Given the description of an element on the screen output the (x, y) to click on. 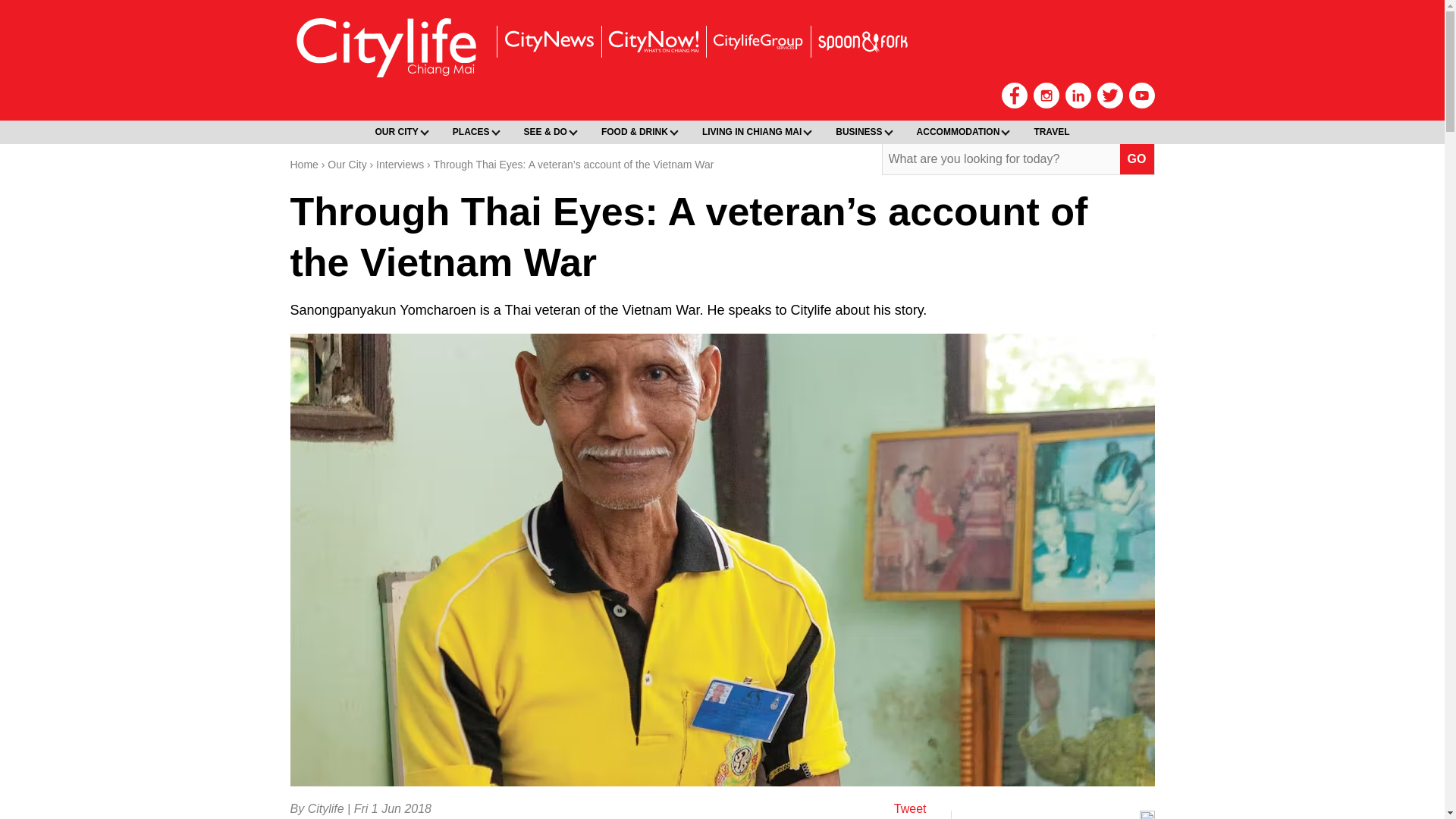
Go (1136, 159)
CityNews (548, 41)
Chiang Mai Citylife (386, 47)
PLACES (473, 132)
Go (1136, 159)
Citylife Group Services (757, 40)
OUR CITY (398, 132)
CityNow - What's on Chiang Mai (652, 41)
